Given the description of an element on the screen output the (x, y) to click on. 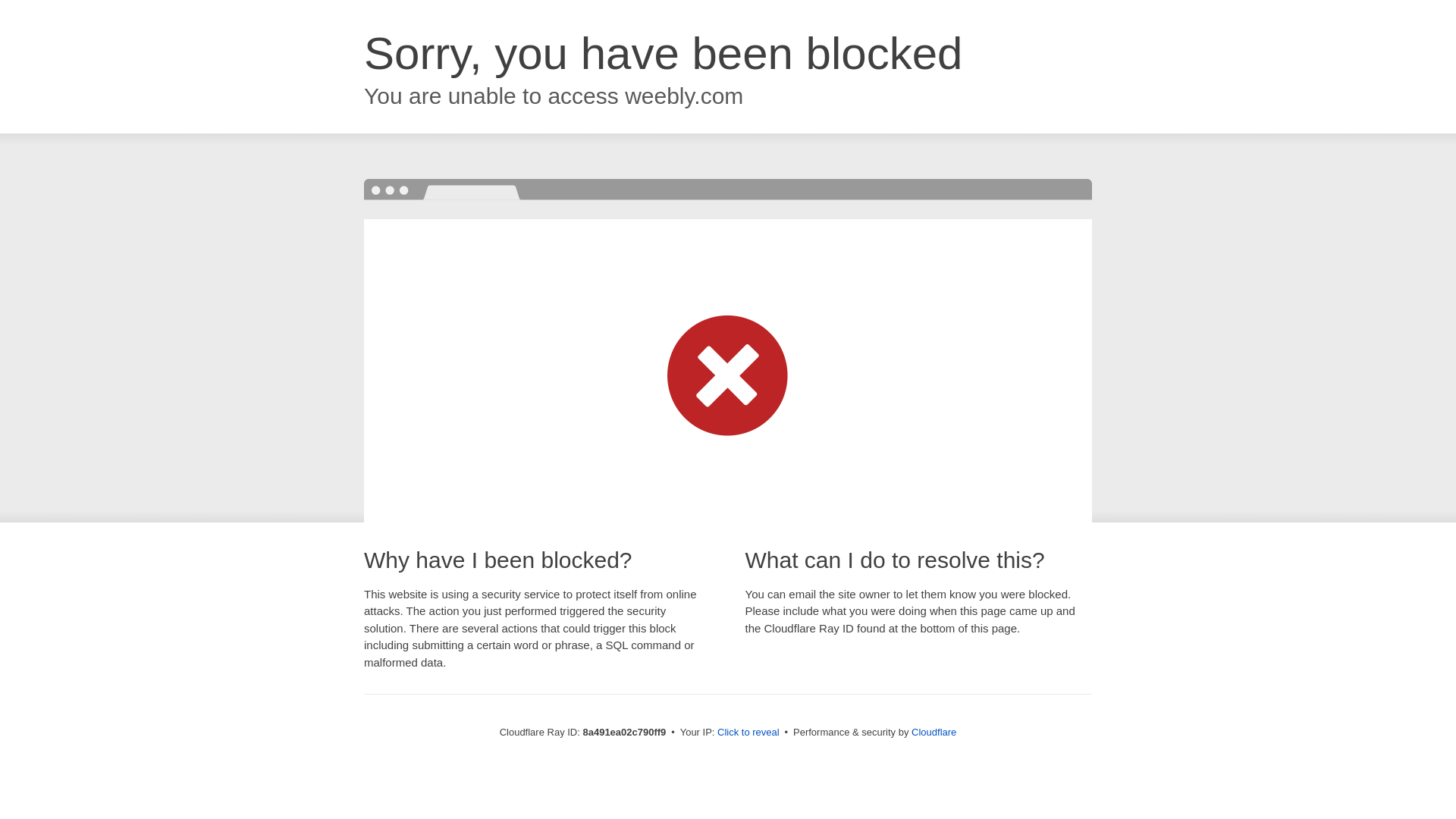
Cloudflare (933, 731)
Click to reveal (747, 732)
